Given the description of an element on the screen output the (x, y) to click on. 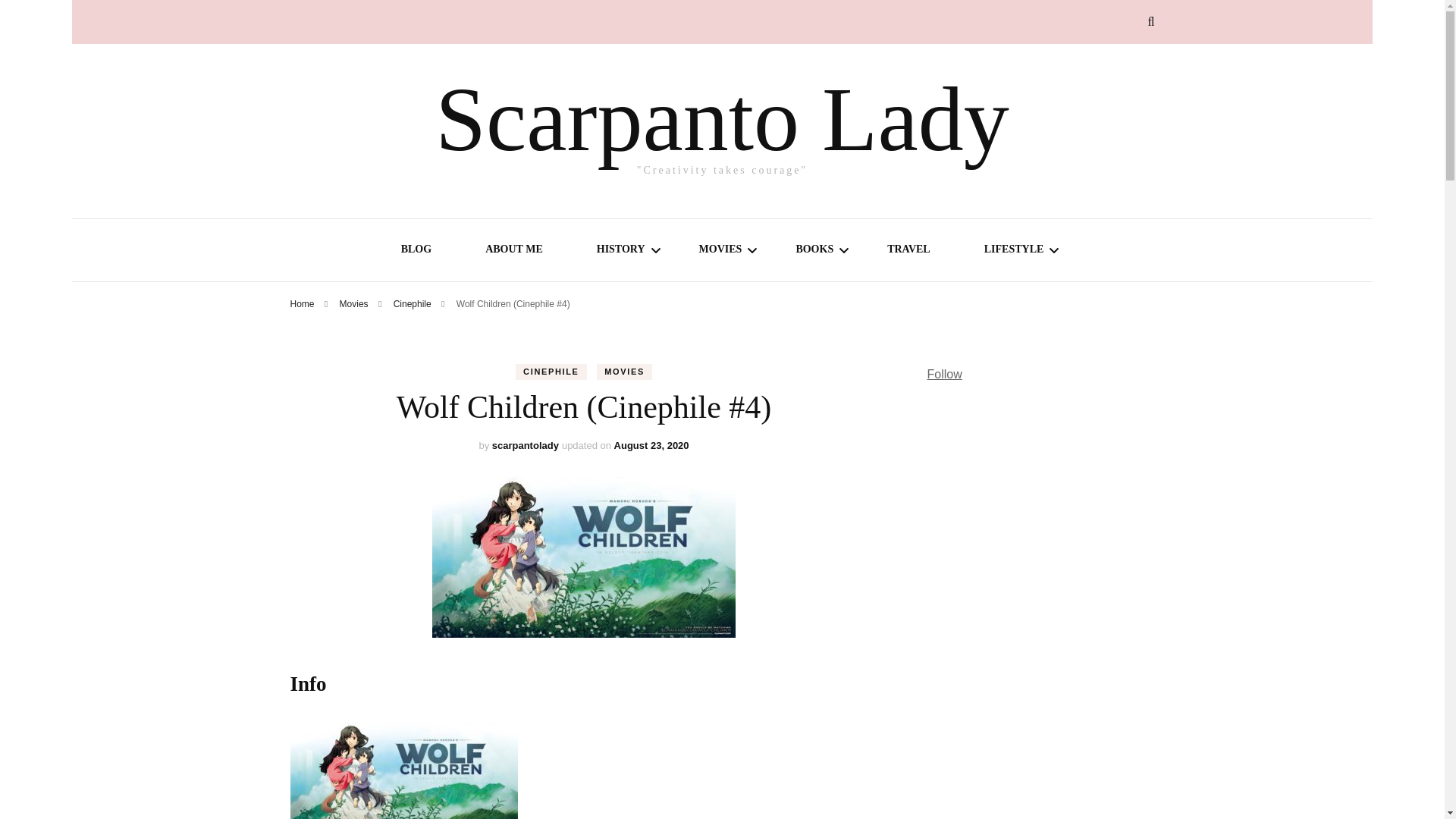
MOVIES (624, 371)
Travel (908, 251)
Books (813, 251)
Home (301, 303)
BLOG (415, 251)
Movies (720, 251)
MOVIES (720, 251)
BOOKS (813, 251)
scarpantolady (525, 445)
Movies (355, 303)
